Given the description of an element on the screen output the (x, y) to click on. 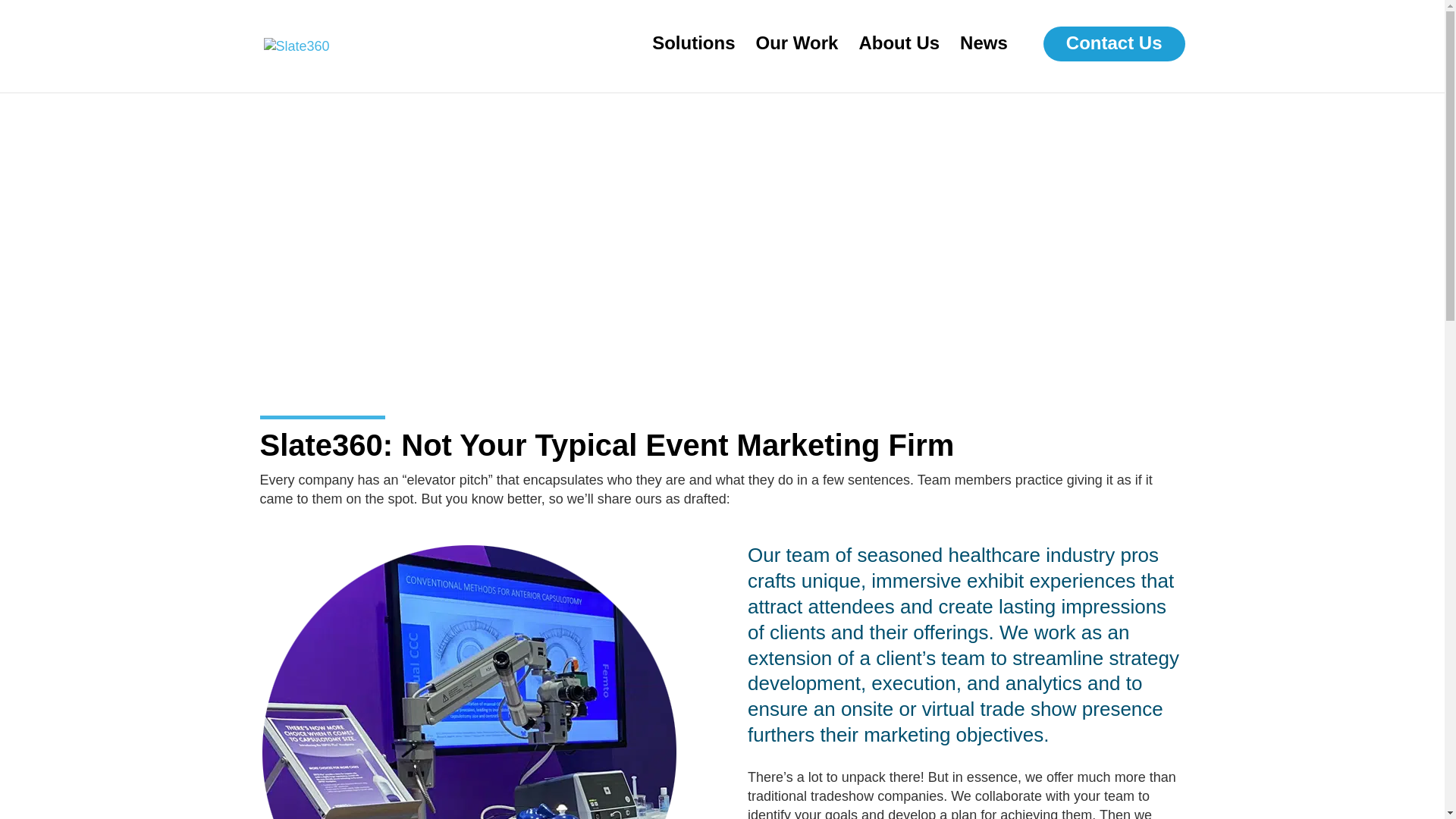
Contact Us (1114, 43)
News (983, 55)
About Us (899, 55)
Solutions (693, 55)
Our Work (796, 55)
